Given the description of an element on the screen output the (x, y) to click on. 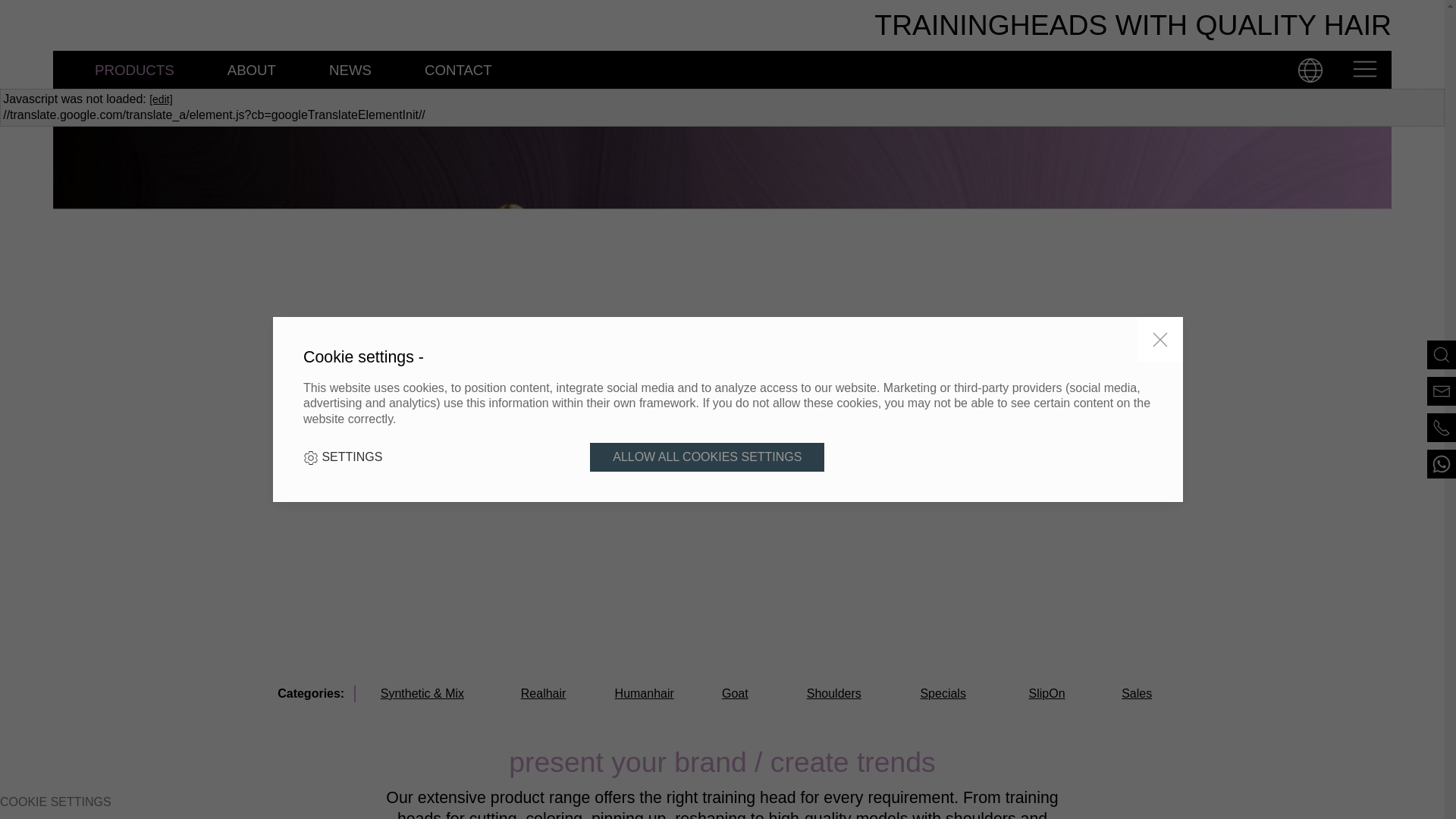
NEWS (349, 69)
PRODUCTS (134, 57)
CONTACT (458, 69)
Allow all cookies settings (706, 457)
MORE INFORMATIONS (1259, 587)
ABOUT (250, 69)
